Given the description of an element on the screen output the (x, y) to click on. 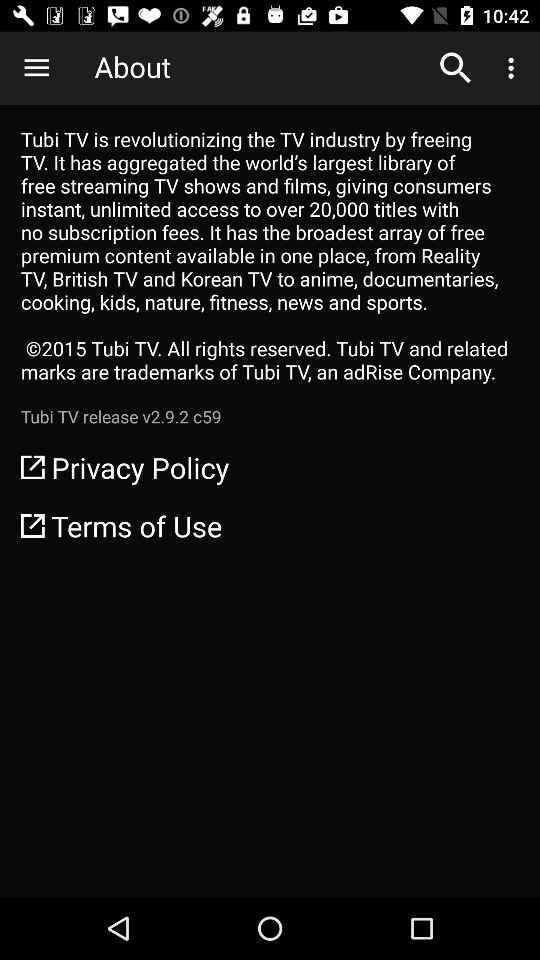
click icon above tubi tv is (36, 68)
